Given the description of an element on the screen output the (x, y) to click on. 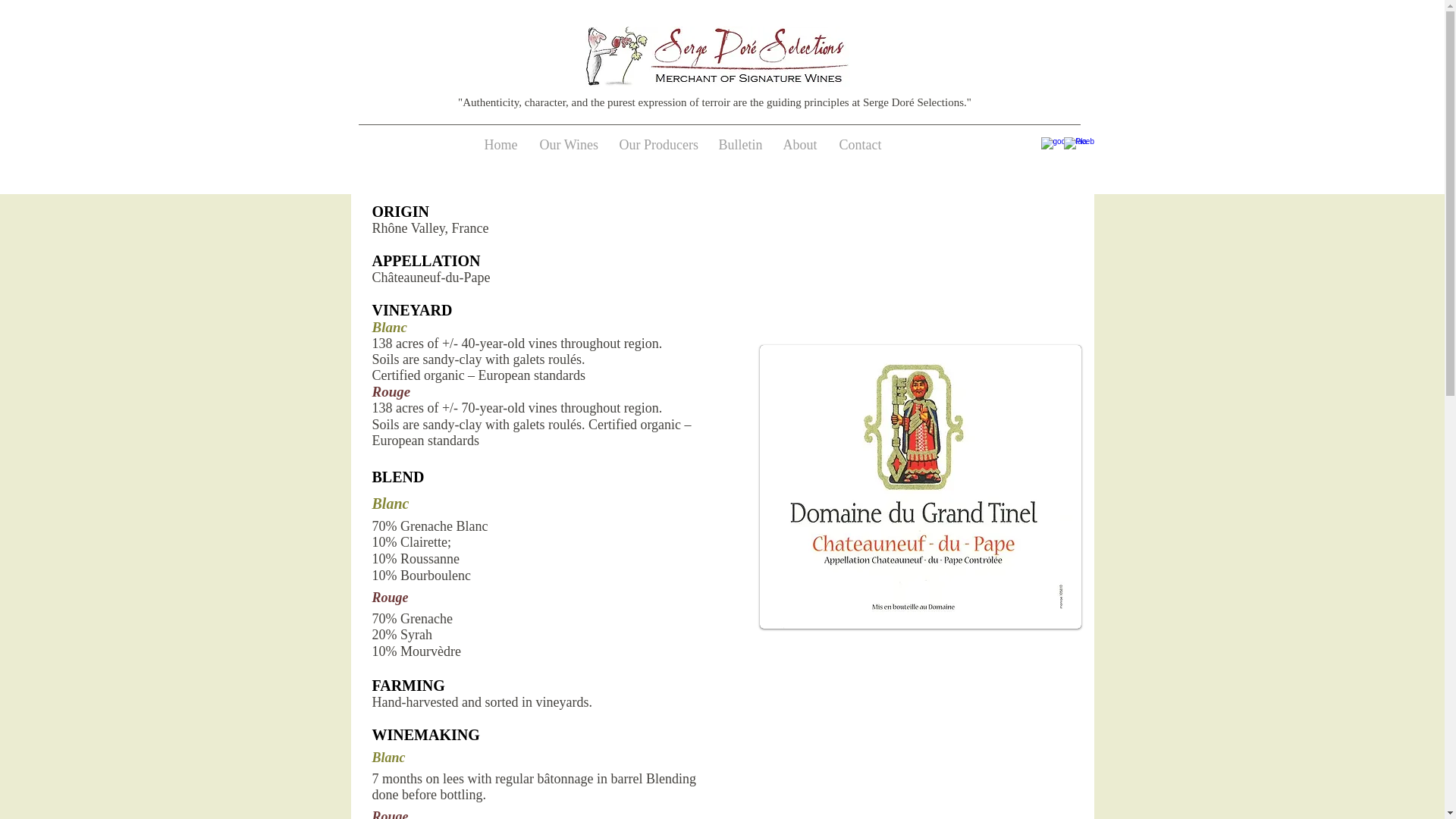
About (799, 144)
Our Producers (657, 144)
Contact (860, 144)
Our Wines (567, 144)
Bulletin (738, 144)
Home (500, 144)
